Given the description of an element on the screen output the (x, y) to click on. 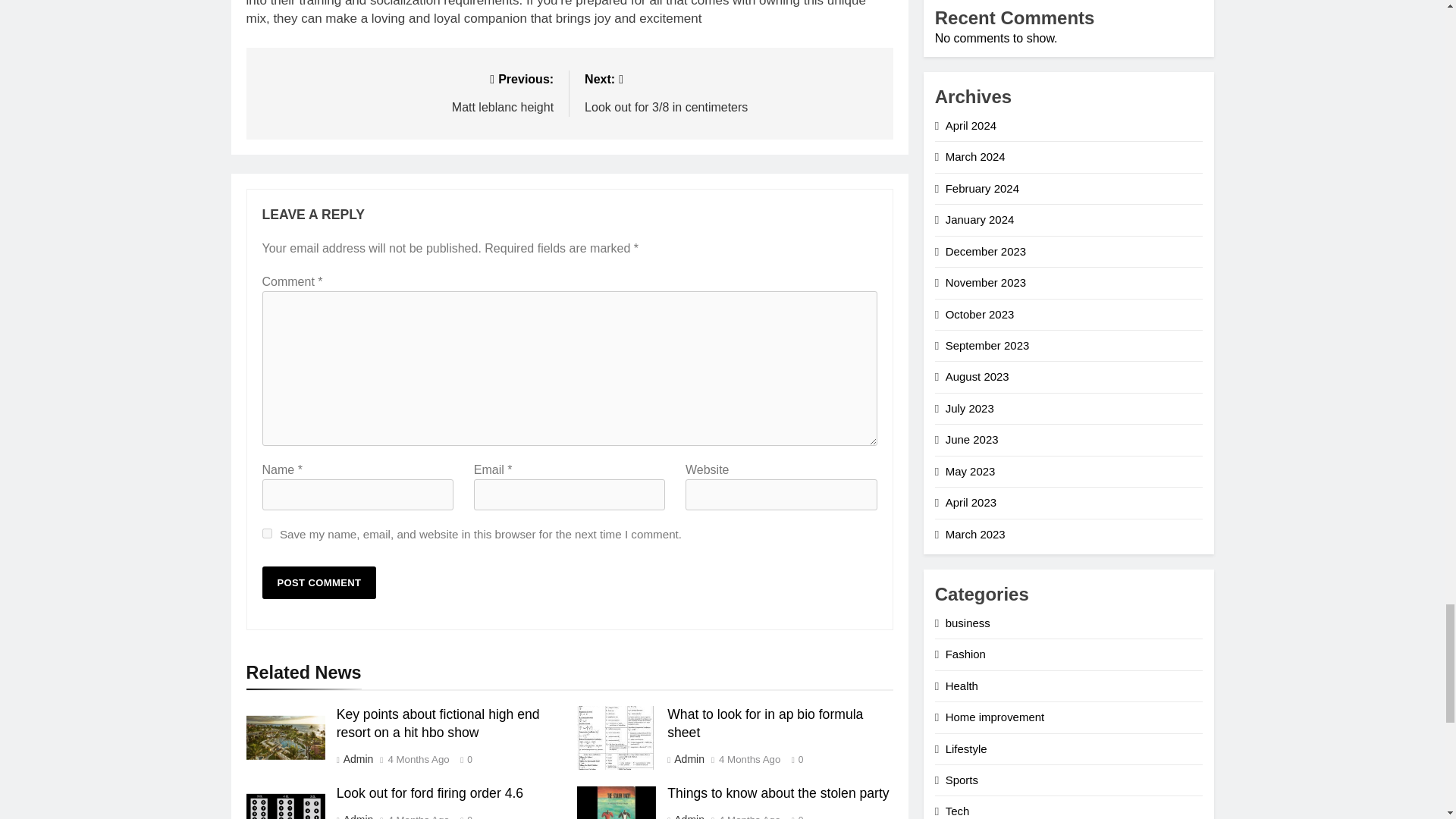
Post Comment (319, 582)
yes (267, 533)
